Given the description of an element on the screen output the (x, y) to click on. 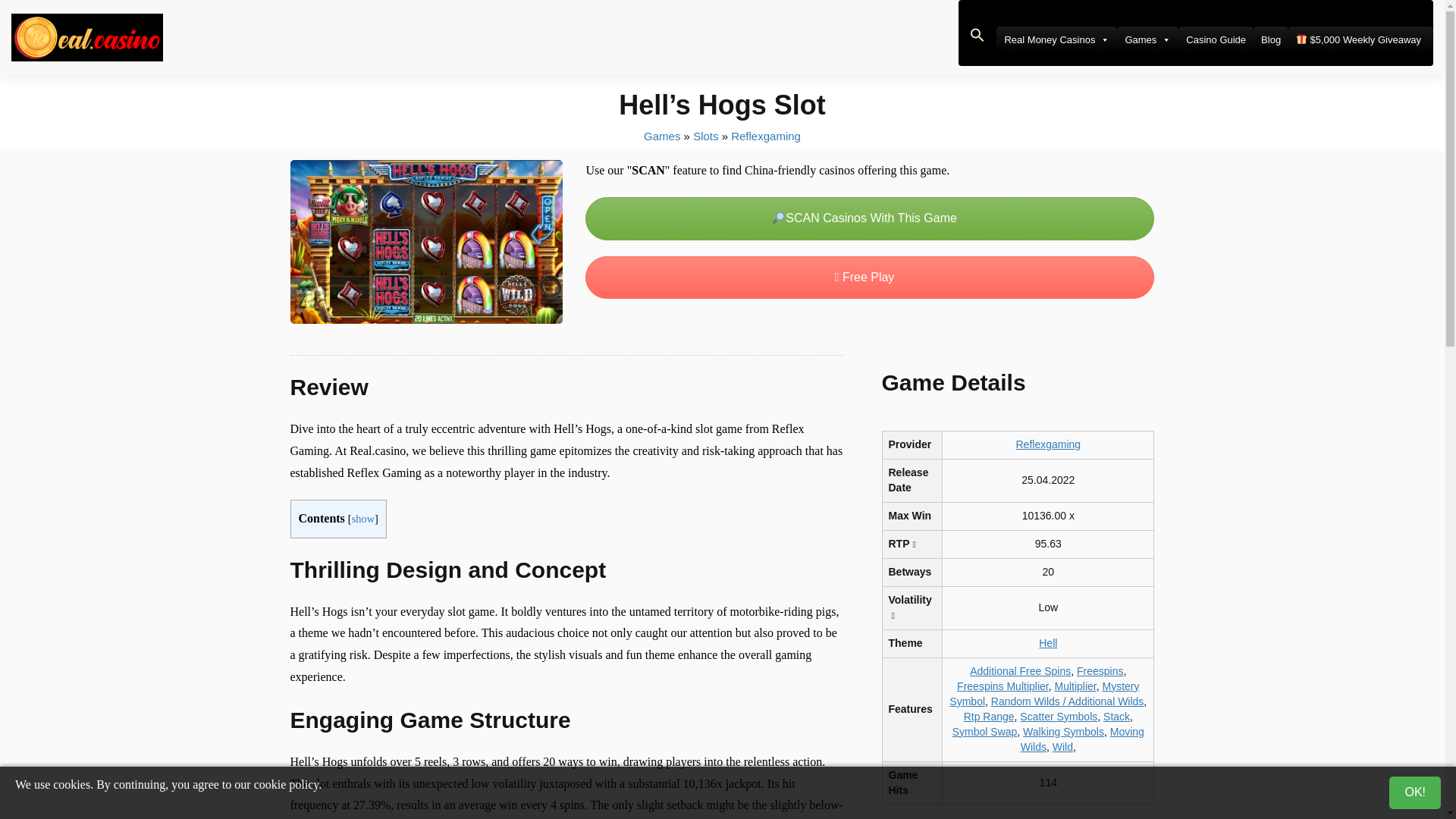
Real Money Casinos (1055, 39)
Games (1146, 39)
Reflexgaming Slots (765, 135)
Online Casino Games (661, 135)
Online Slots (705, 135)
